Given the description of an element on the screen output the (x, y) to click on. 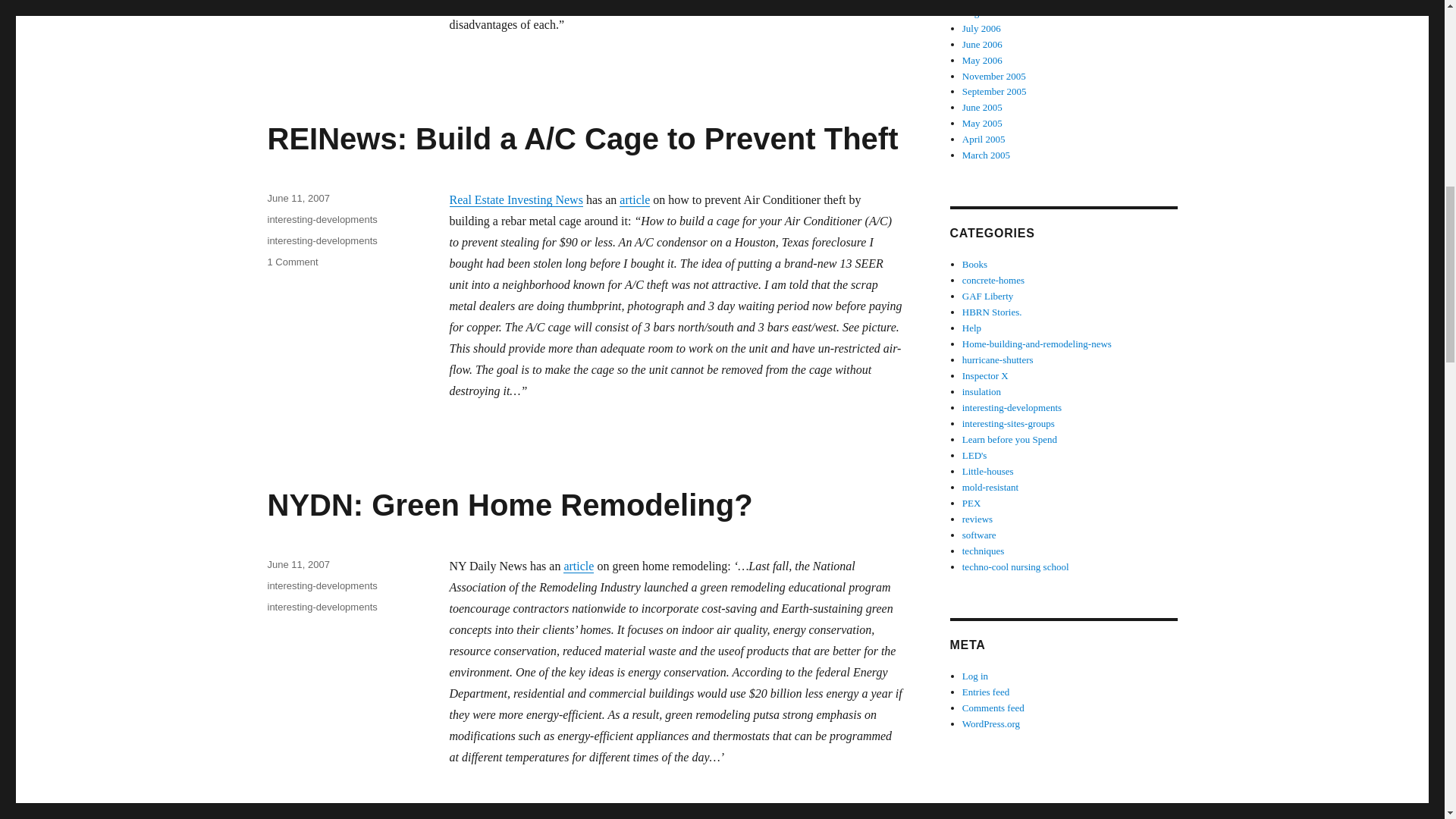
interesting-developments (321, 606)
interesting-developments (321, 585)
June 11, 2007 (297, 197)
NYDN: Green Home Remodeling? (509, 504)
interesting-developments (321, 219)
interesting-developments (321, 240)
June 11, 2007 (297, 564)
article (634, 199)
article (578, 565)
Real Estate Investing News (515, 199)
